Given the description of an element on the screen output the (x, y) to click on. 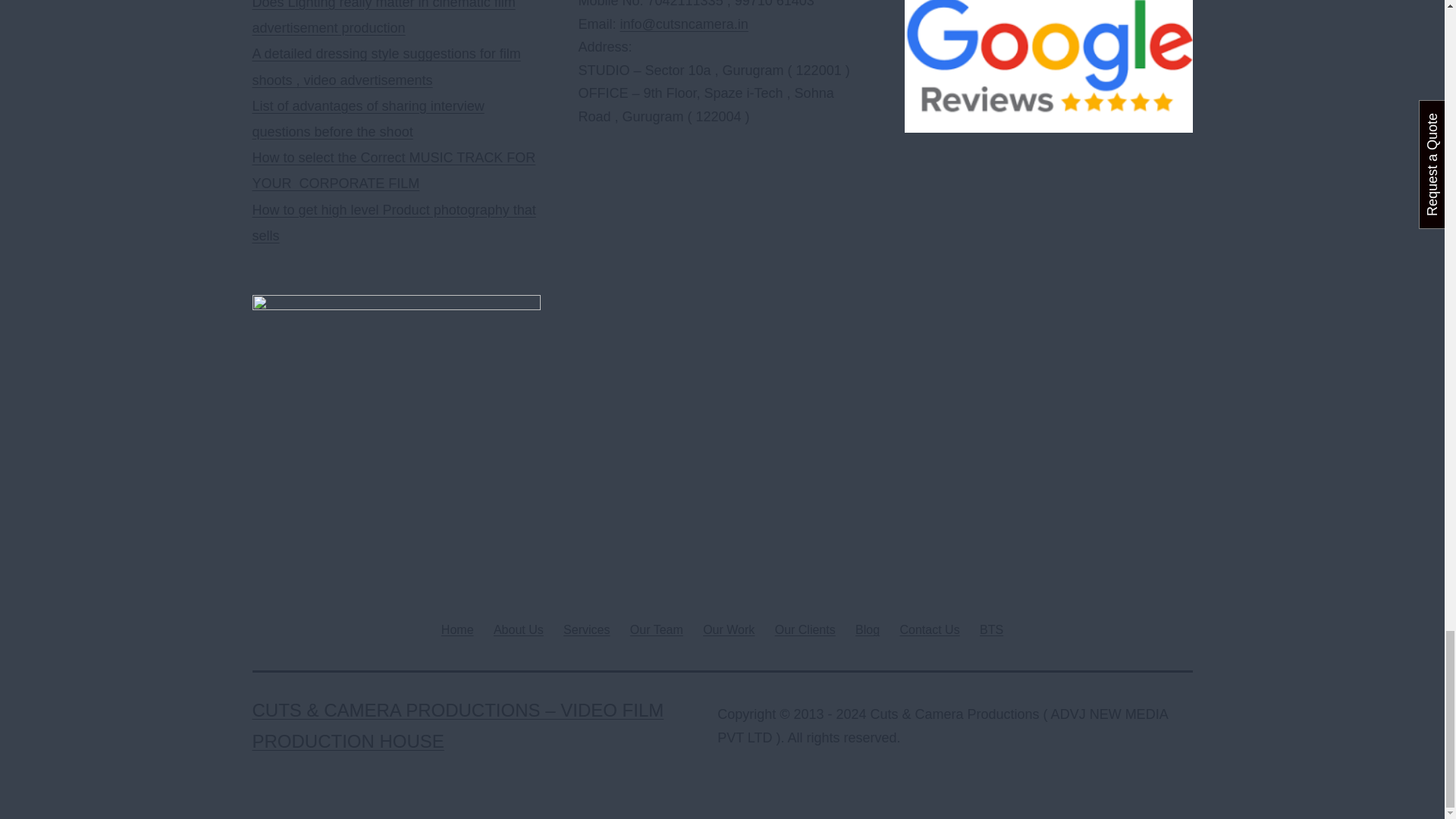
How to get high level Product photography that sells (393, 222)
